Given the description of an element on the screen output the (x, y) to click on. 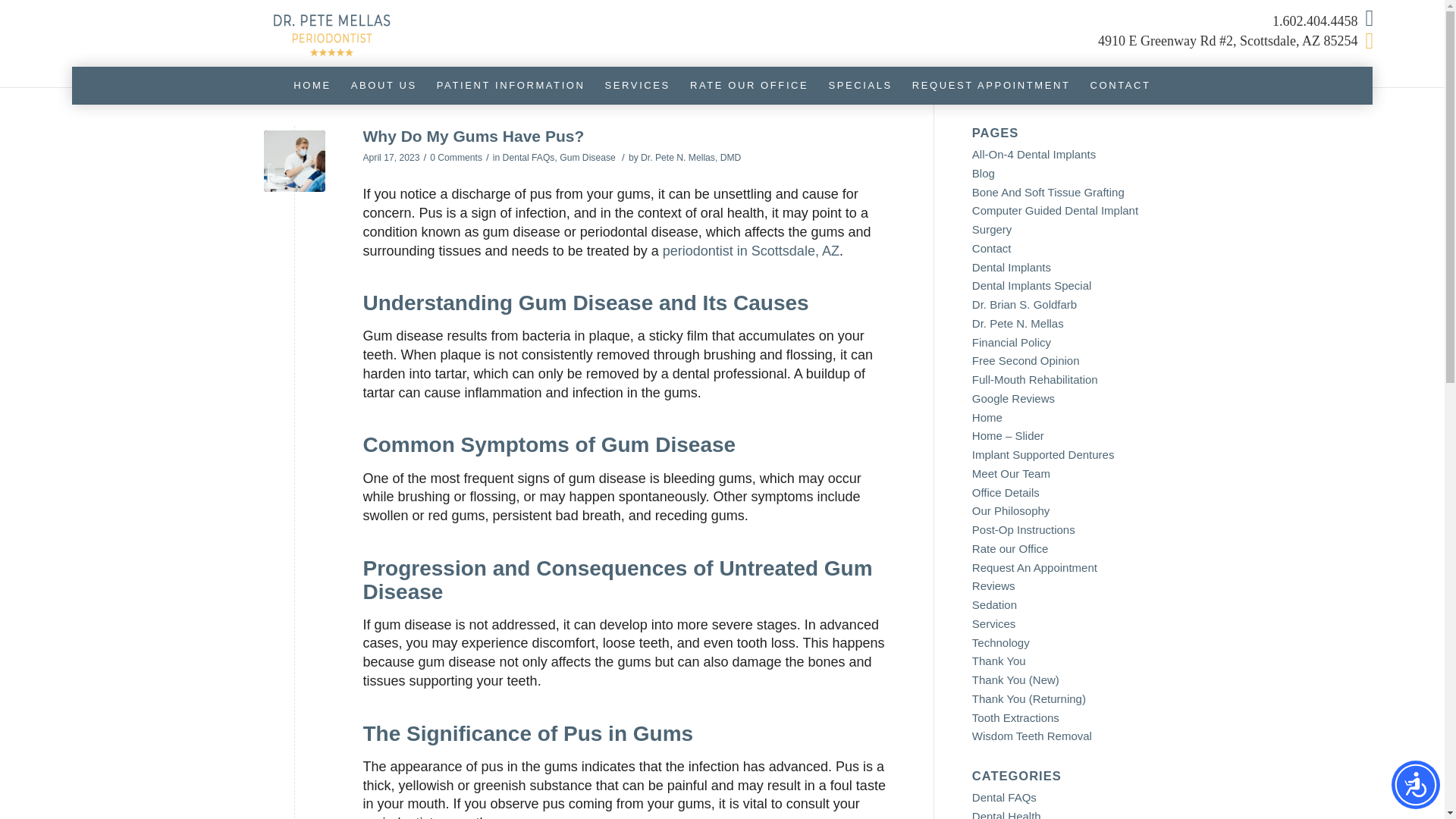
ABOUT US (383, 85)
SPECIALS (859, 85)
Accessibility Menu (1415, 784)
Permanent Link: Why Do My Gums Have Pus? (472, 135)
Why Do My Gums Have Pus? (293, 160)
REQUEST APPOINTMENT (991, 85)
CONTACT (1120, 85)
RATE OUR OFFICE (748, 85)
PATIENT INFORMATION (510, 85)
Posts by Dr. Pete N. Mellas, DMD (690, 157)
HOME (311, 85)
SERVICES (637, 85)
